Given the description of an element on the screen output the (x, y) to click on. 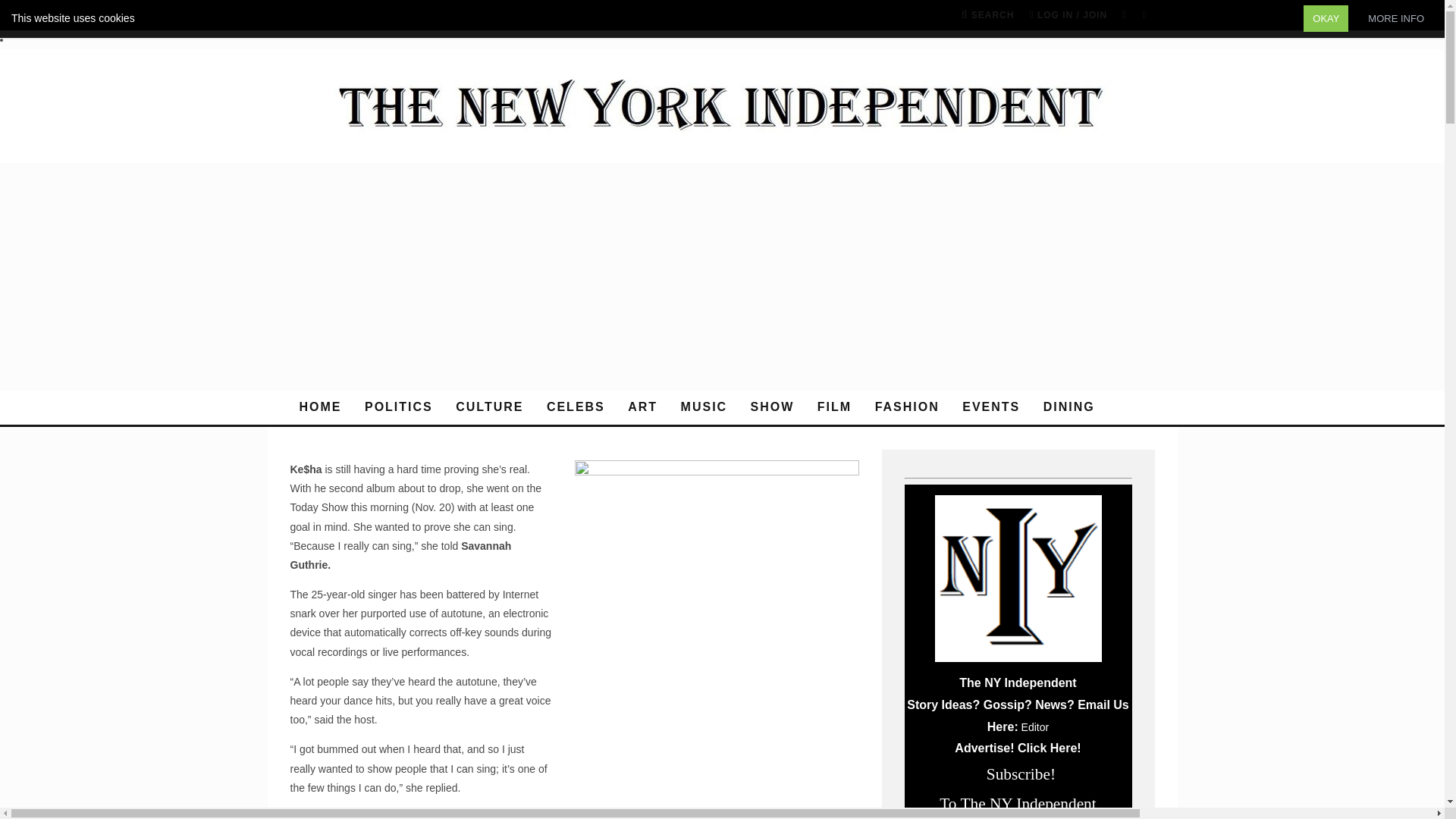
SEARCH (987, 15)
Search (987, 15)
